Given the description of an element on the screen output the (x, y) to click on. 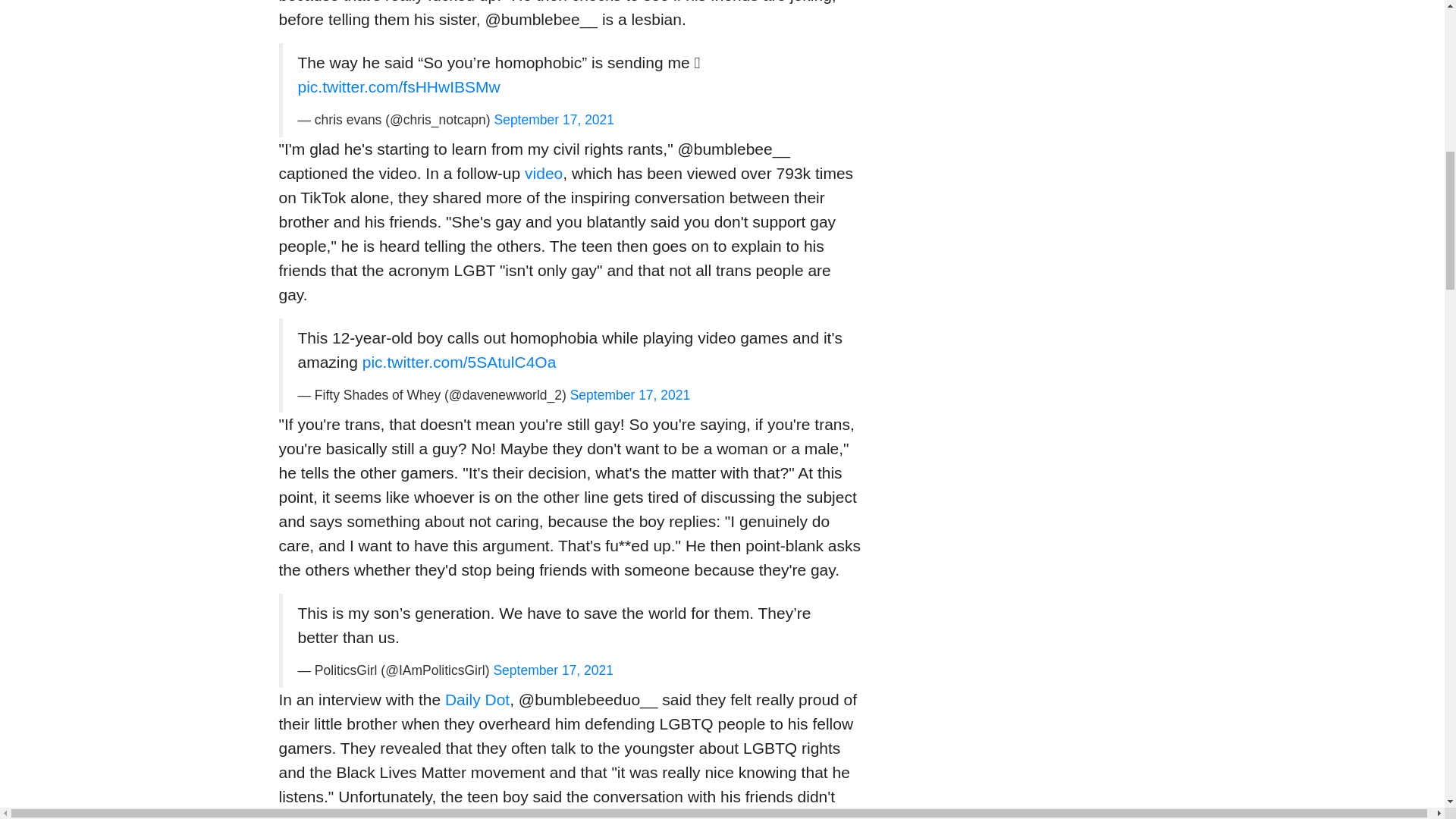
September 17, 2021 (630, 394)
September 17, 2021 (553, 119)
September 17, 2021 (552, 670)
Daily Dot (477, 699)
video (543, 172)
